Given the description of an element on the screen output the (x, y) to click on. 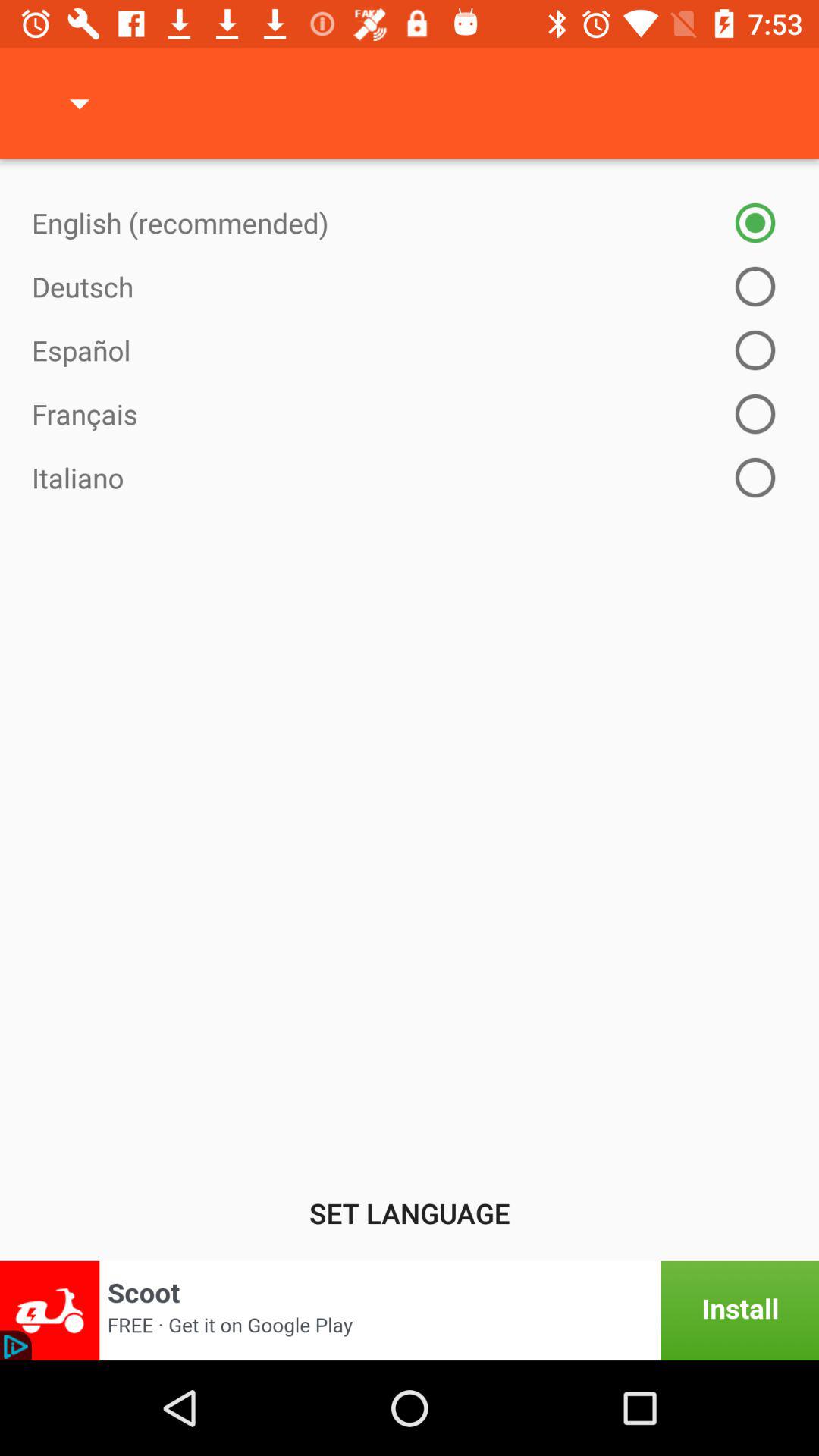
click the set language (409, 1212)
